Given the description of an element on the screen output the (x, y) to click on. 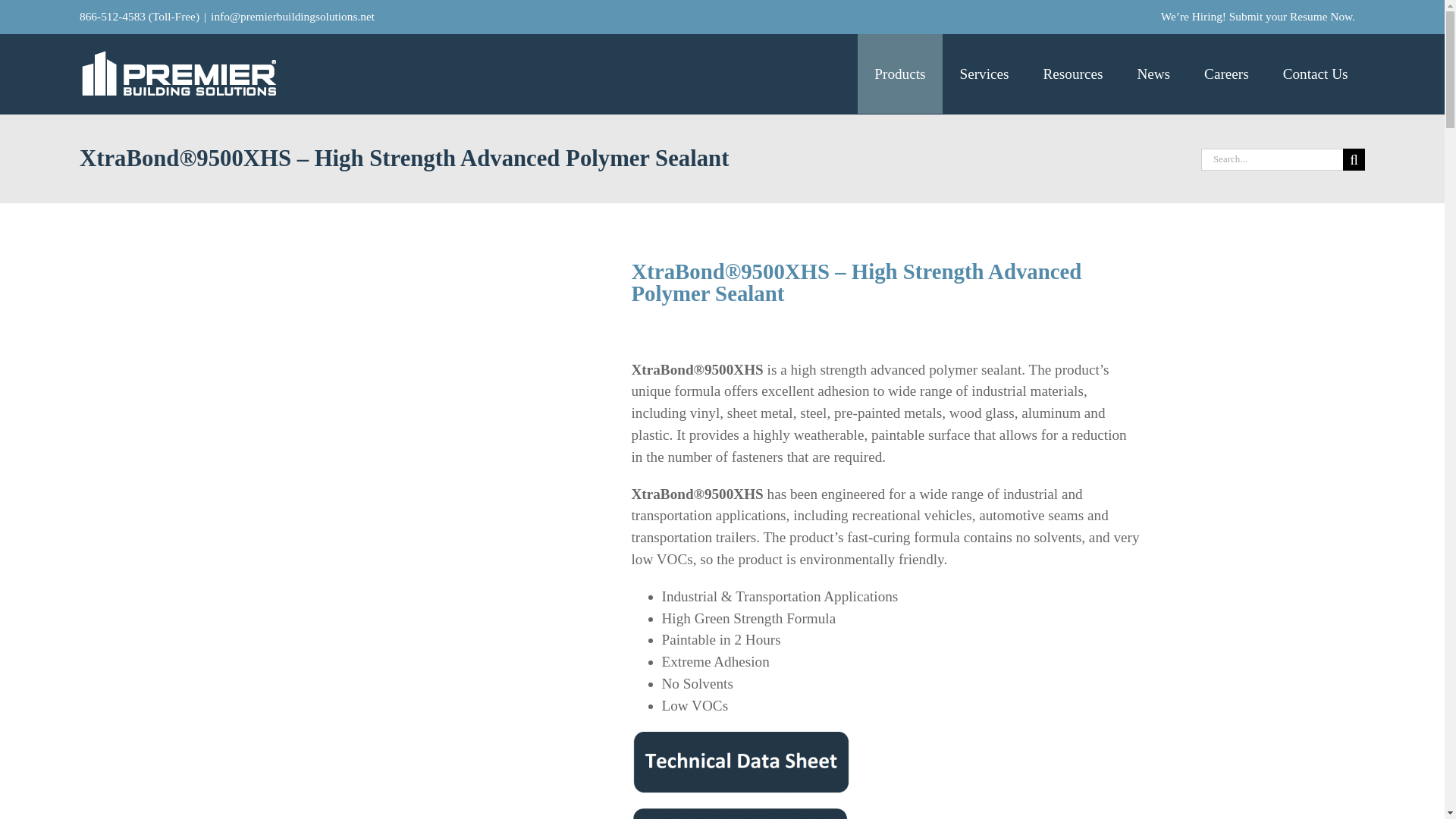
Resources (1072, 73)
Products (899, 73)
Services (984, 73)
